Given the description of an element on the screen output the (x, y) to click on. 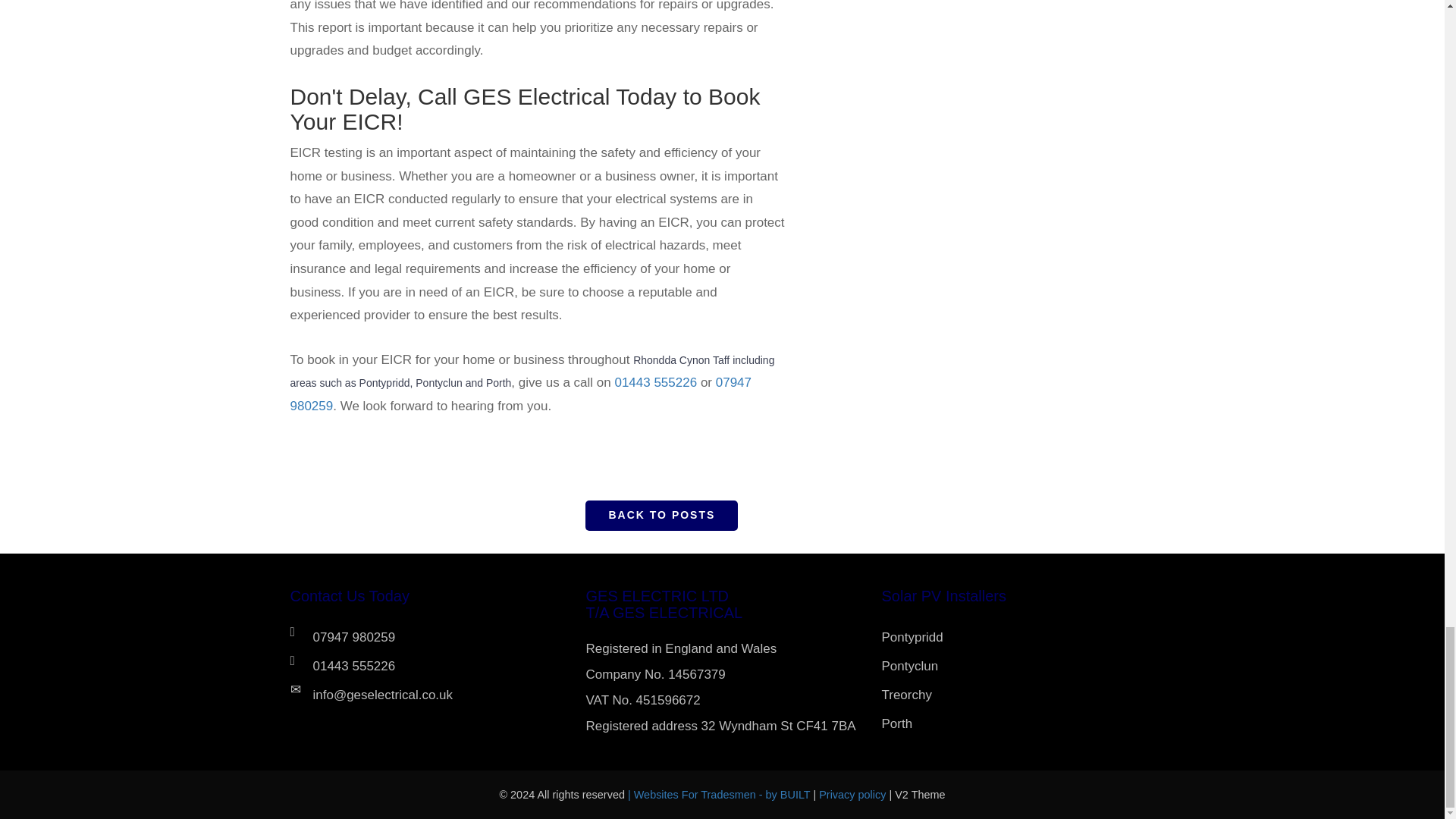
Pontypridd (1017, 636)
Back to Posts (661, 515)
Pontyclun (1017, 665)
Porth (1017, 724)
Treorchy (1017, 695)
07947 980259 (520, 394)
BACK TO POSTS (661, 515)
01443 555226 (655, 382)
07947 980259 (437, 636)
01443 555226 (437, 665)
